Given the description of an element on the screen output the (x, y) to click on. 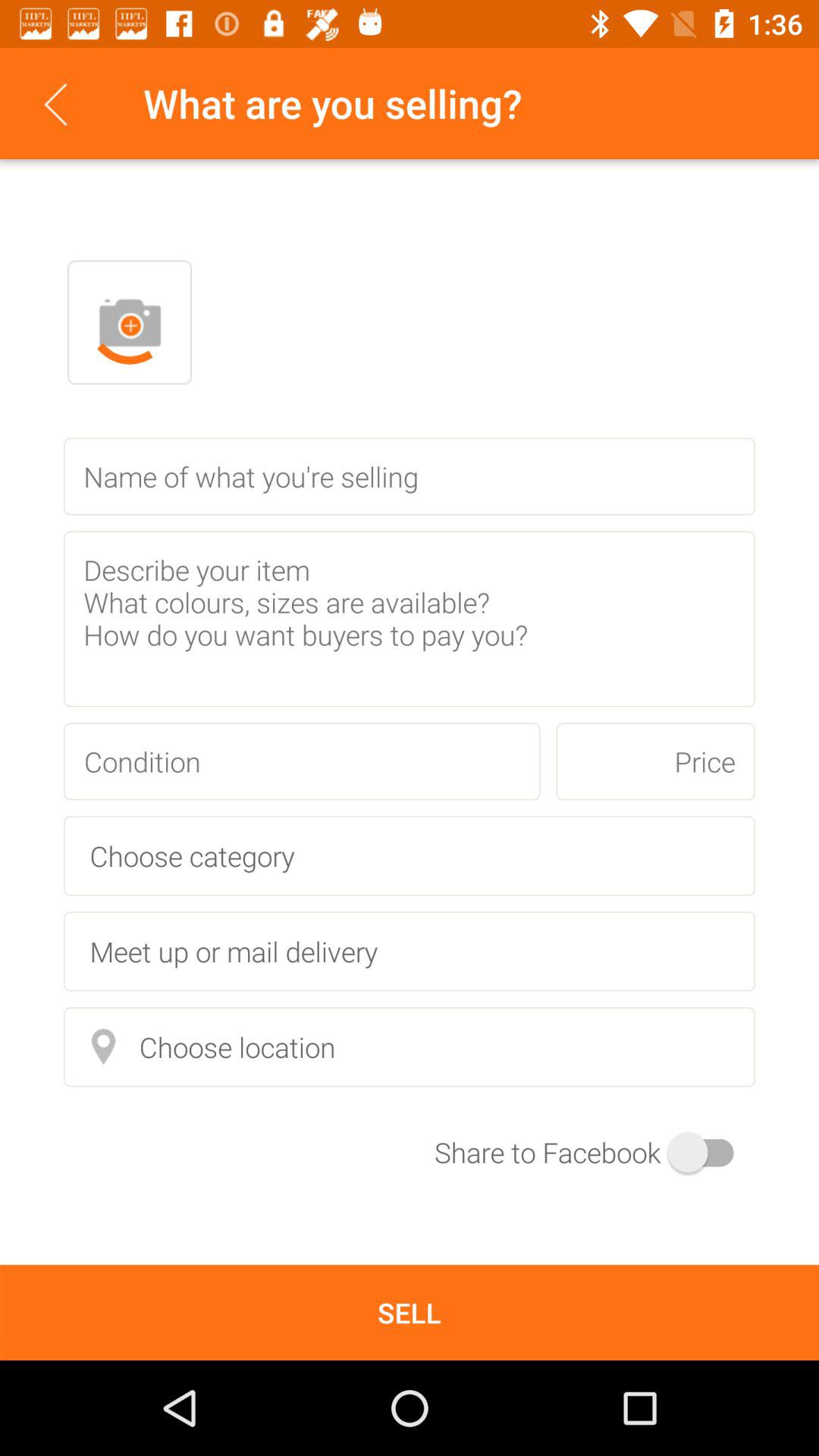
tap icon below share to facebook (409, 1312)
